Given the description of an element on the screen output the (x, y) to click on. 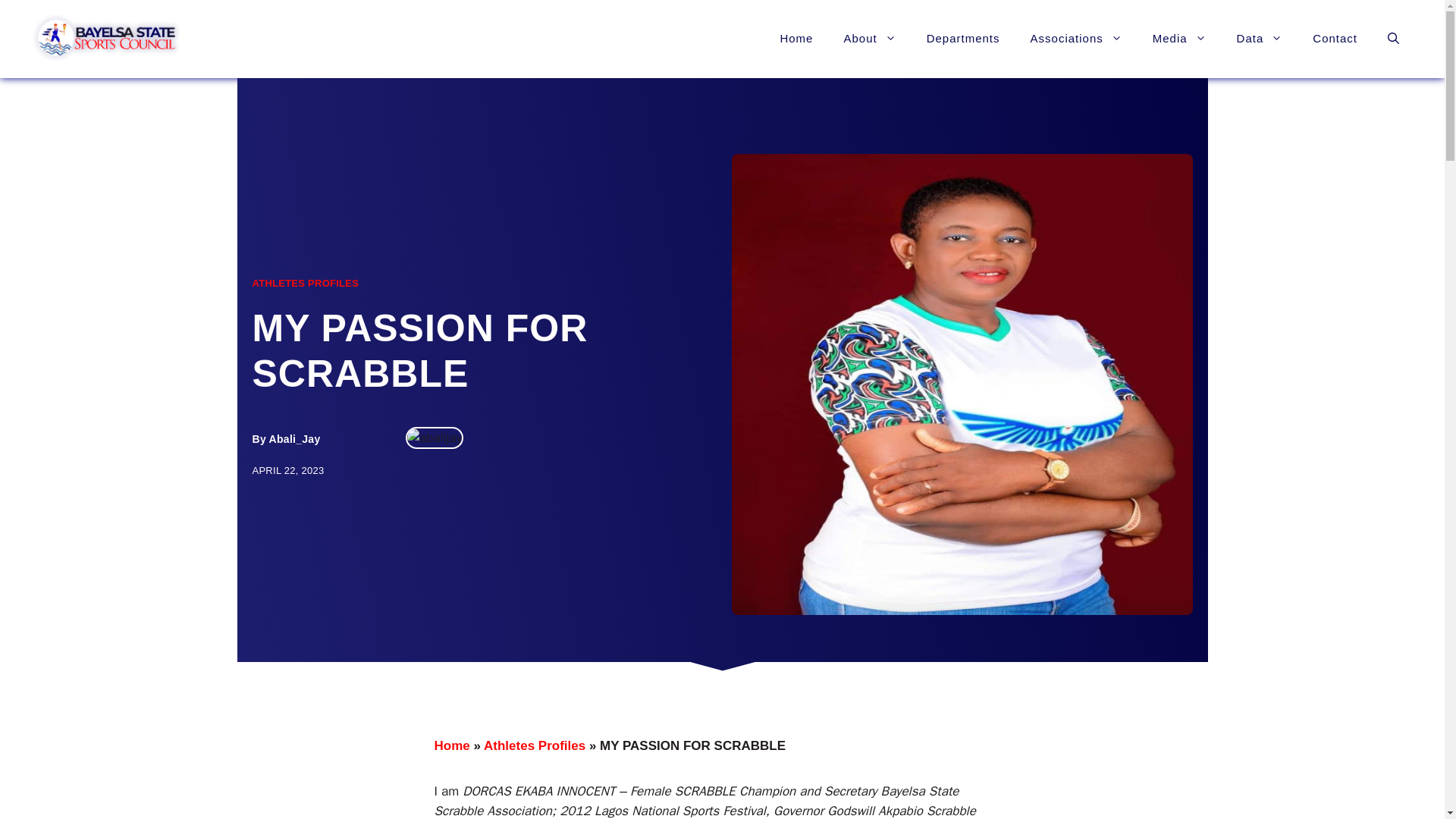
Home (796, 38)
Associations (1075, 38)
Departments (962, 38)
About (869, 38)
Media (1179, 38)
